Given the description of an element on the screen output the (x, y) to click on. 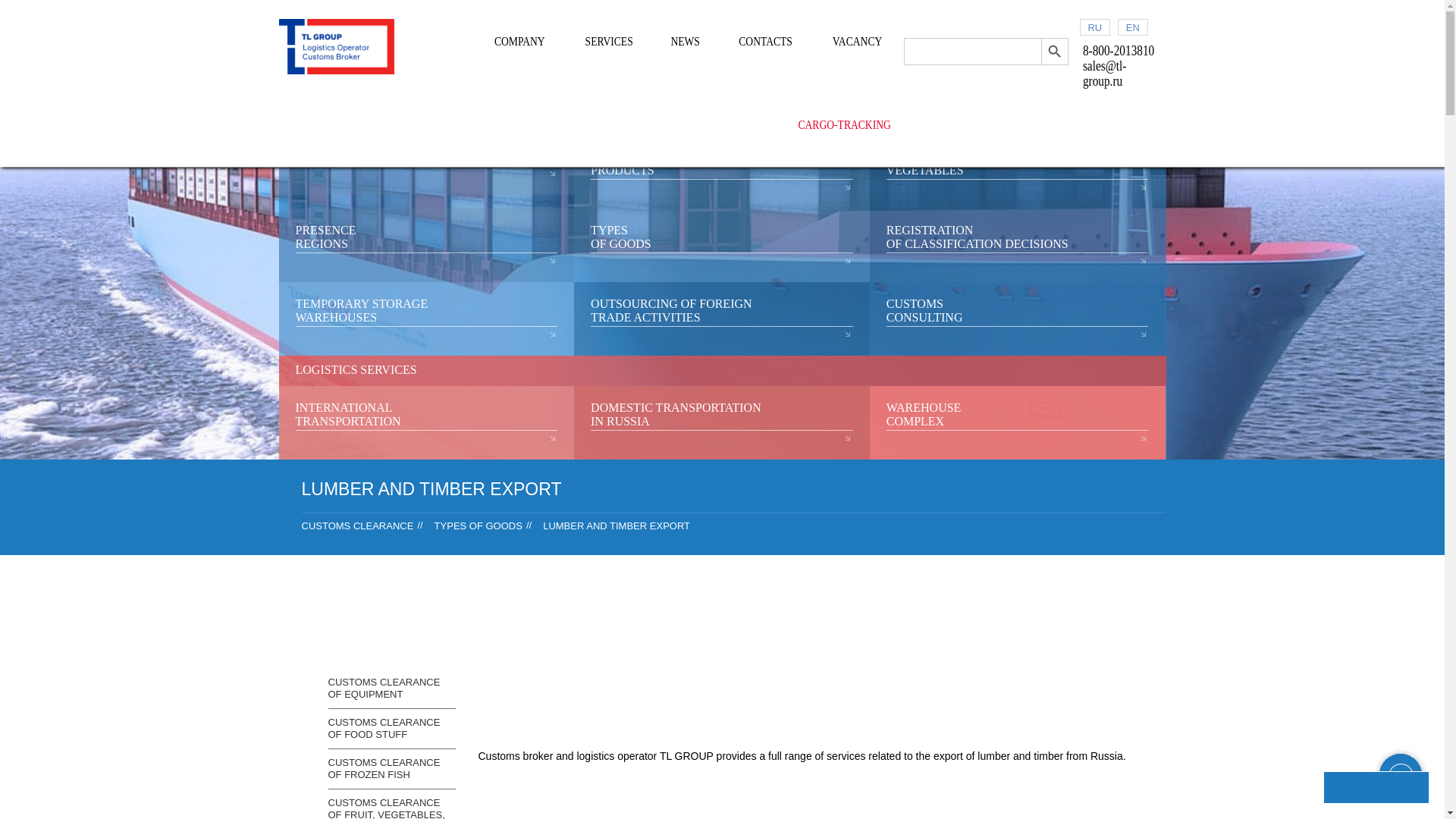
RU (1094, 27)
CONTACTS (771, 41)
COMPANY (526, 41)
CARGO-TRACKING (847, 125)
SERVICES (614, 41)
VACANCY (863, 41)
EN (1132, 27)
8-800-2013810 (1125, 50)
SEARCH BUTTON (1054, 51)
